Given the description of an element on the screen output the (x, y) to click on. 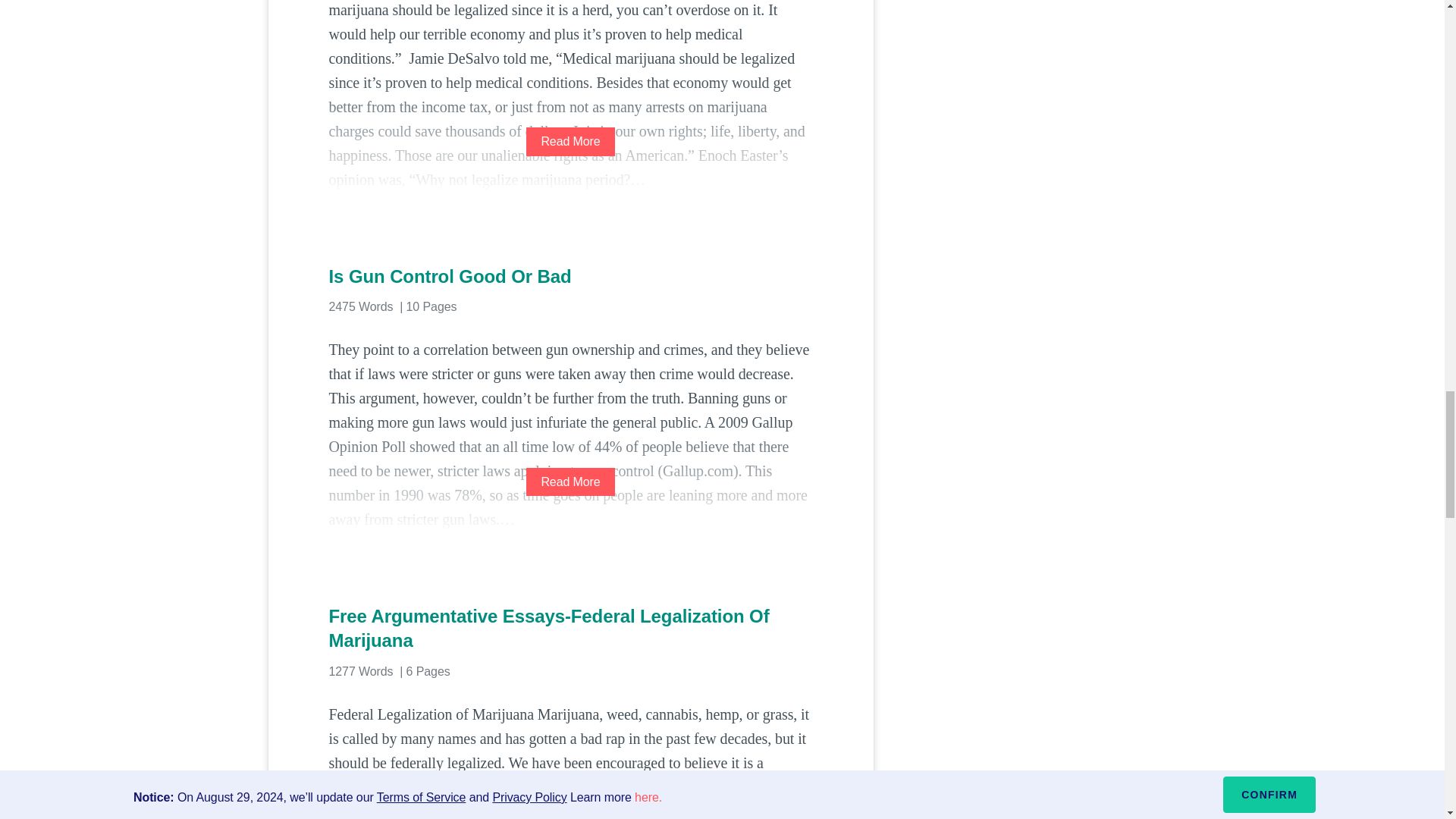
Read More (569, 481)
Is Gun Control Good Or Bad (570, 276)
Free Argumentative Essays-Federal Legalization Of Marijuana (570, 628)
Read More (569, 141)
